Given the description of an element on the screen output the (x, y) to click on. 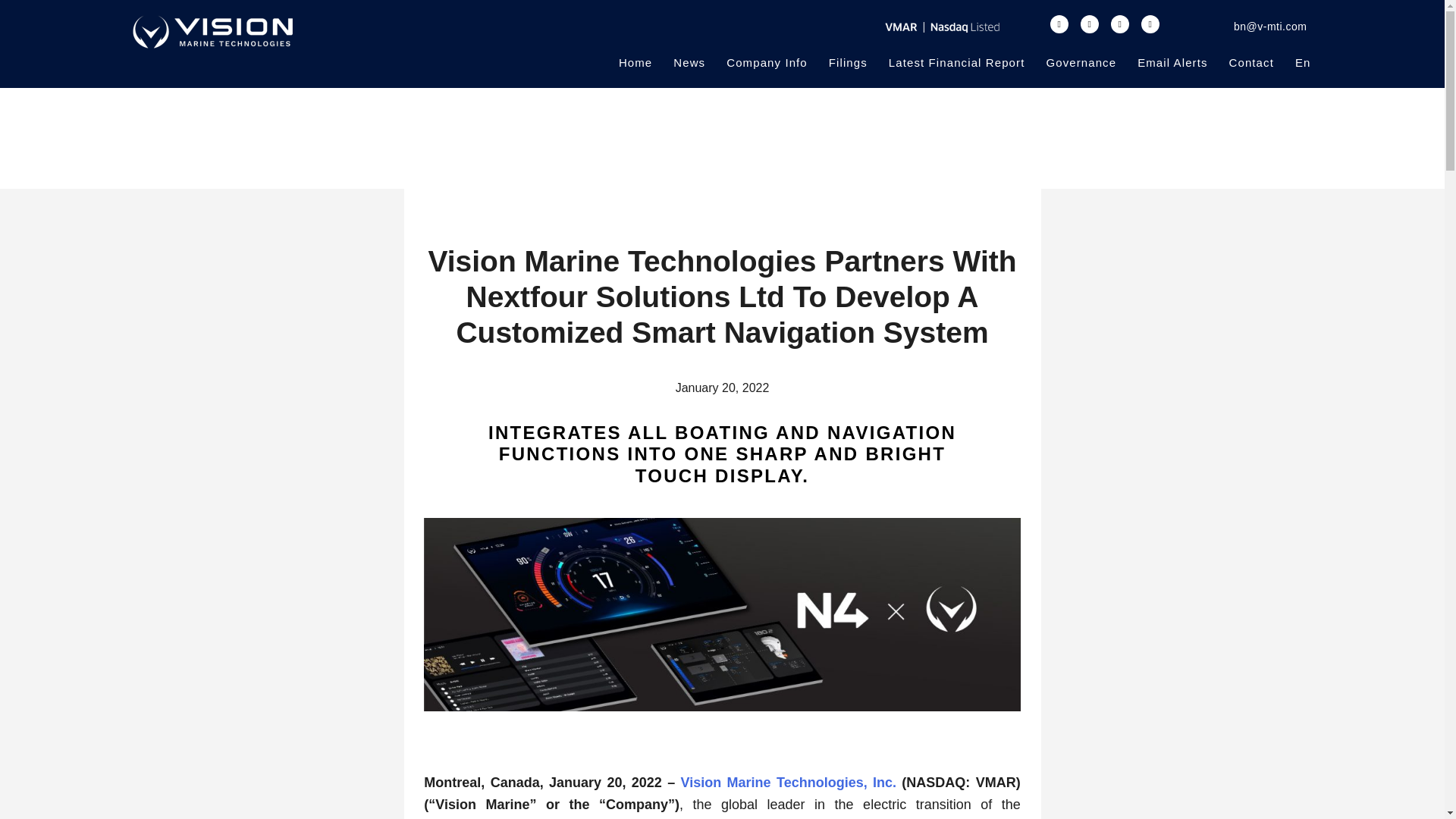
Governance (1080, 62)
En (1303, 62)
Filings (847, 62)
Email Alerts (1171, 62)
Latest Financial Report (956, 62)
Contact (1251, 62)
Home (635, 62)
Linkedin (1149, 24)
Youtube (1119, 24)
Company Info (767, 62)
